Given the description of an element on the screen output the (x, y) to click on. 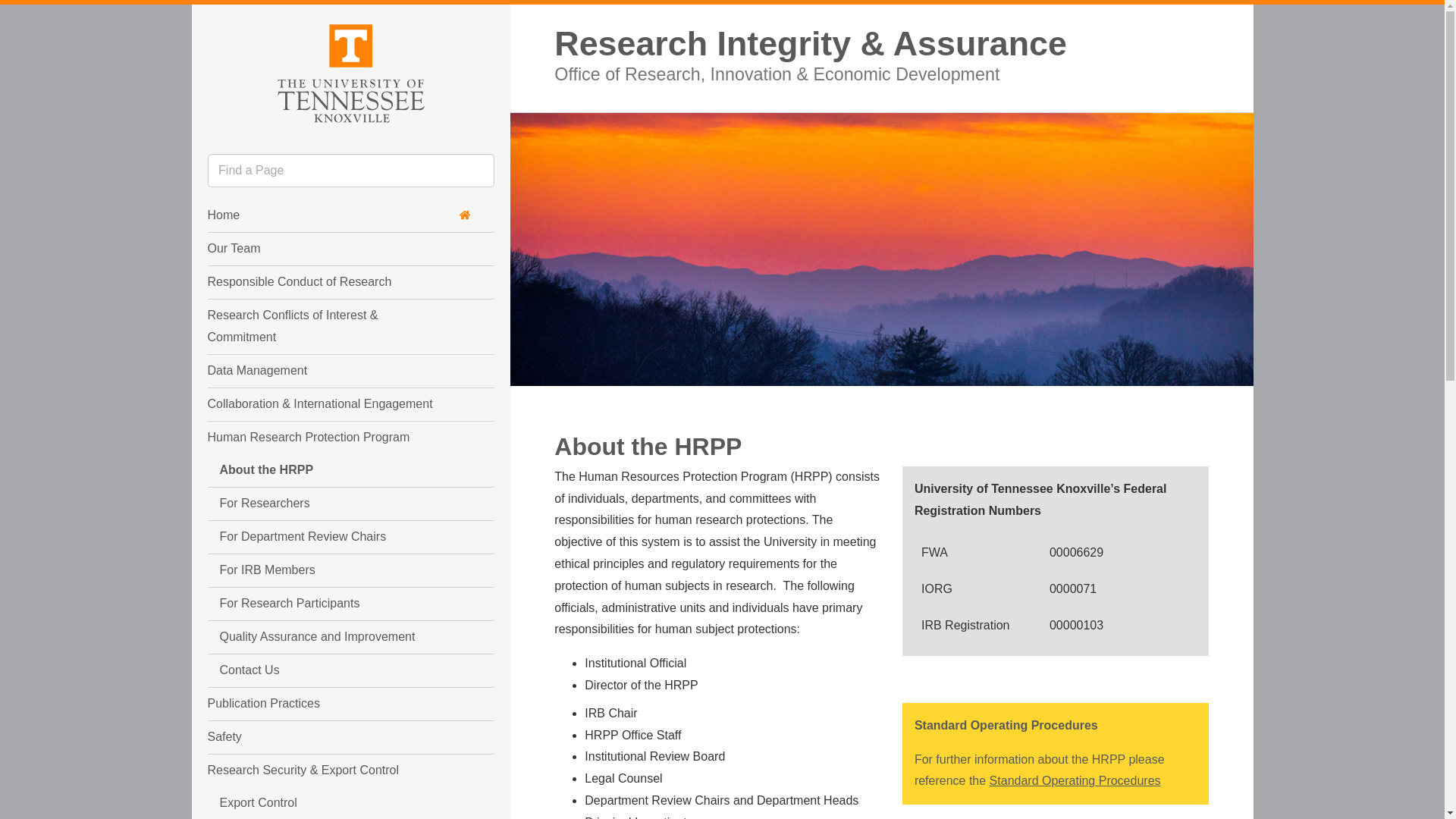
Data Management (322, 370)
Export Control (322, 803)
Responsible Conduct of Research (322, 282)
Home (339, 215)
About the HRPP (322, 470)
Skip to content (204, 17)
The University of Tennessee, Knoxville (349, 70)
Our Team (322, 248)
Publication Practices (322, 703)
Standard Operating Procedures (1075, 780)
Quality Assurance and Improvement (322, 636)
For Department Review Chairs (322, 536)
For Research Participants (322, 603)
